Given the description of an element on the screen output the (x, y) to click on. 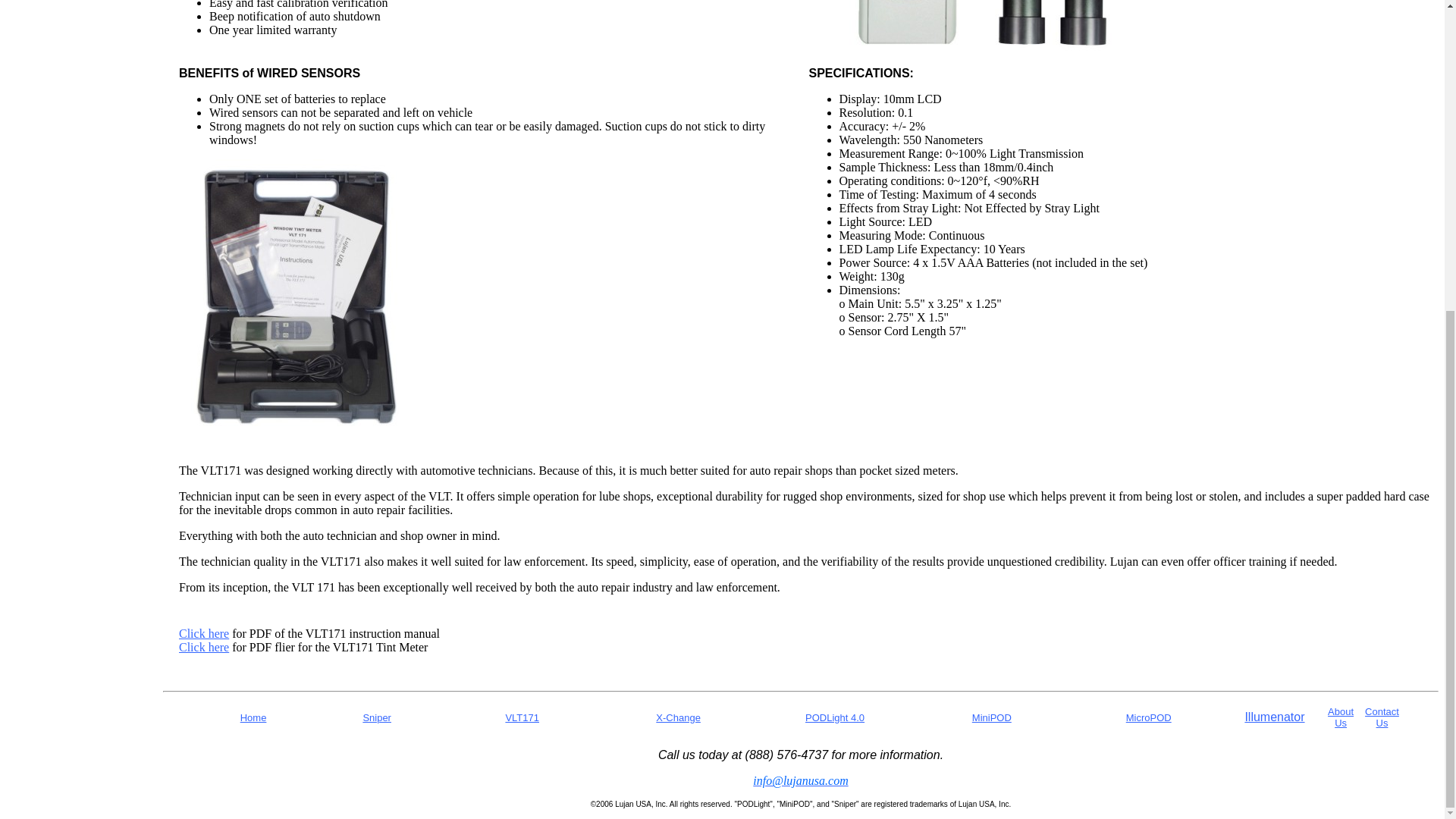
MiniPOD (991, 716)
PODLight 4.0 (834, 717)
Contact Us (1382, 716)
Illumenator (1274, 716)
Sniper (376, 717)
About Us (1340, 716)
VLT171 (521, 717)
Home (253, 717)
Click here (203, 646)
Click here (203, 633)
